Given the description of an element on the screen output the (x, y) to click on. 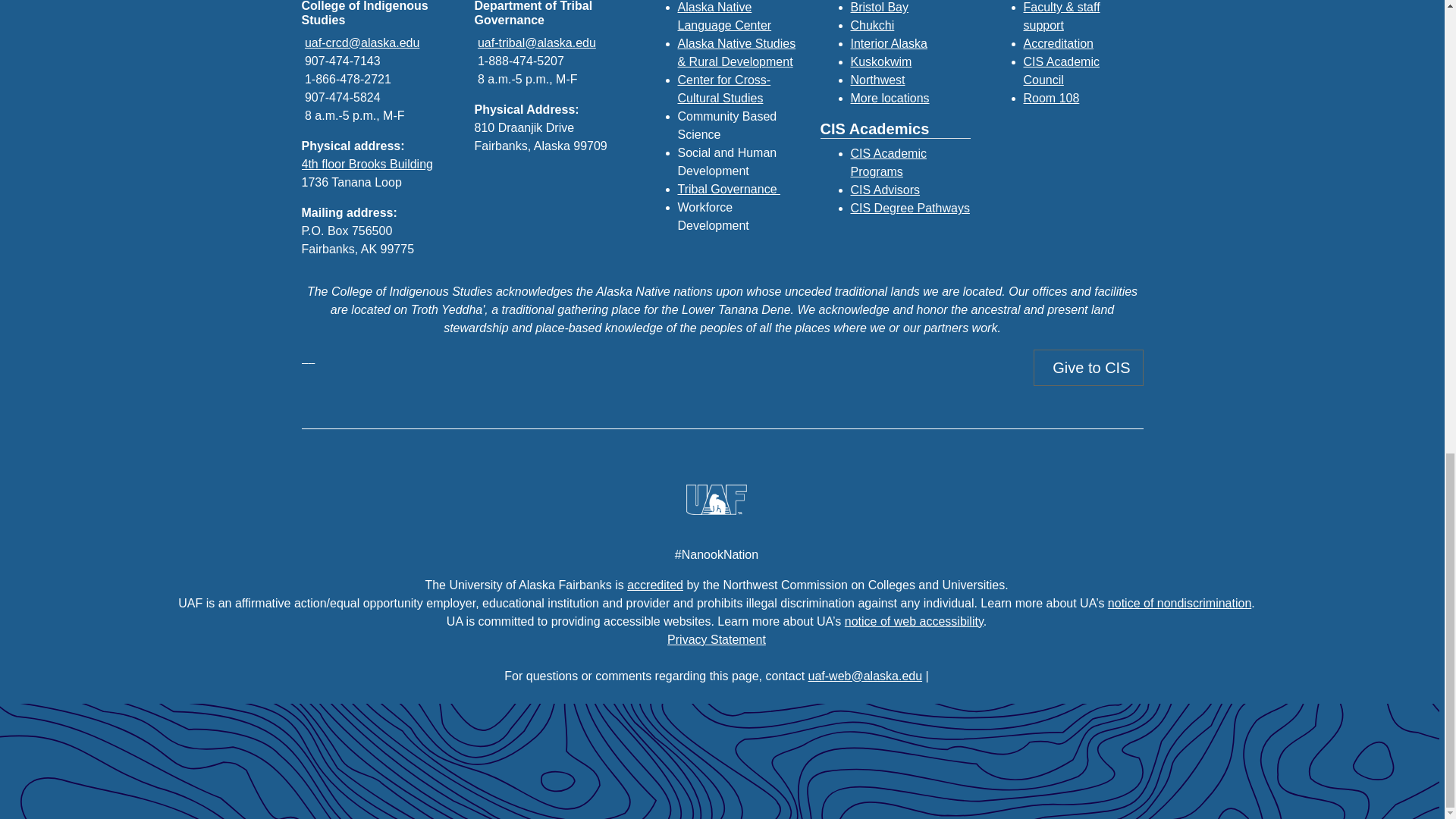
Center for Cross-Cultural Studies (724, 88)
Tribal Governance  (729, 188)
4th floor Brooks Building (366, 164)
Alaska Native Language Center (724, 15)
